Given the description of an element on the screen output the (x, y) to click on. 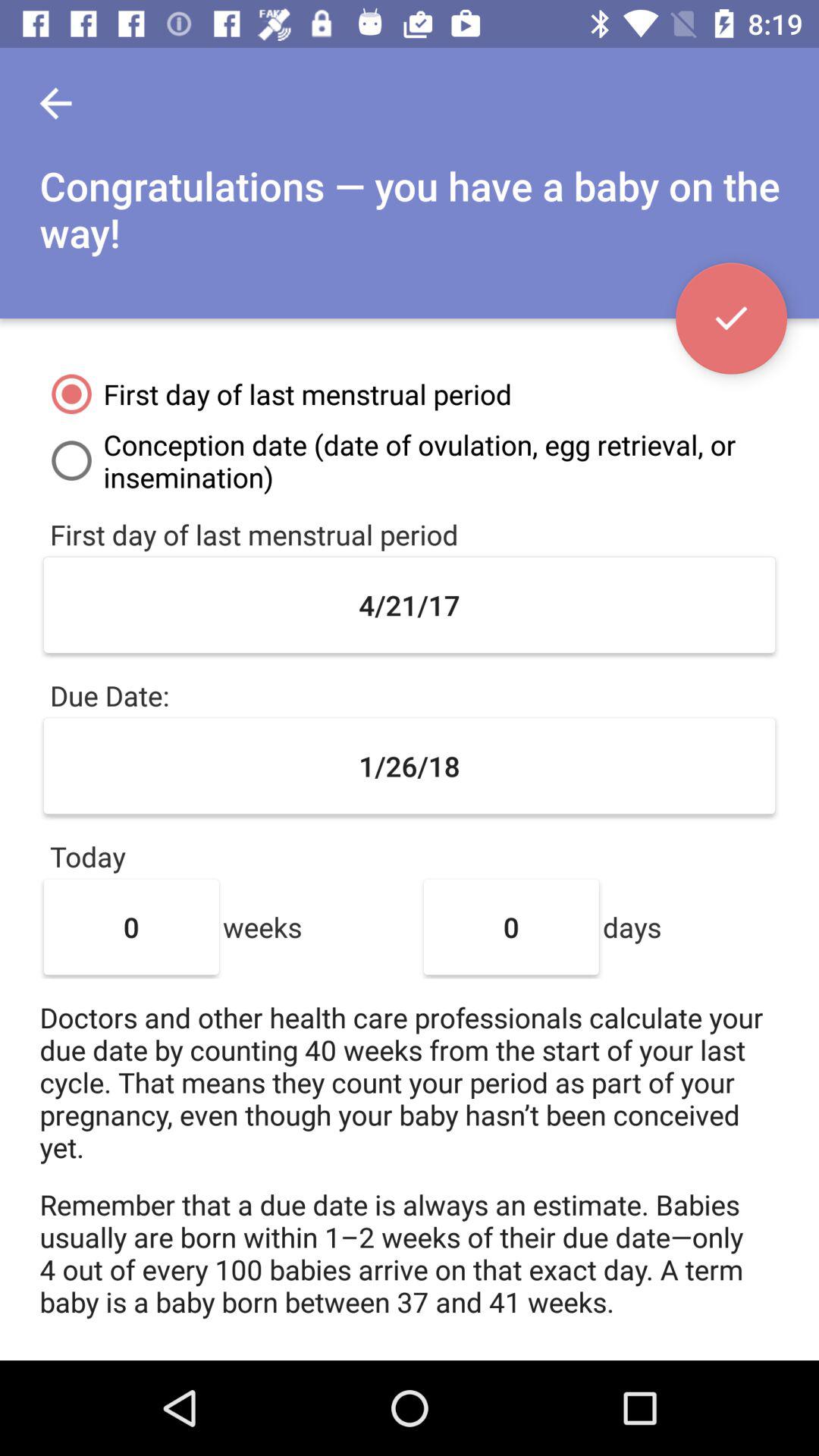
tap the item above congratulations you have (55, 103)
